Given the description of an element on the screen output the (x, y) to click on. 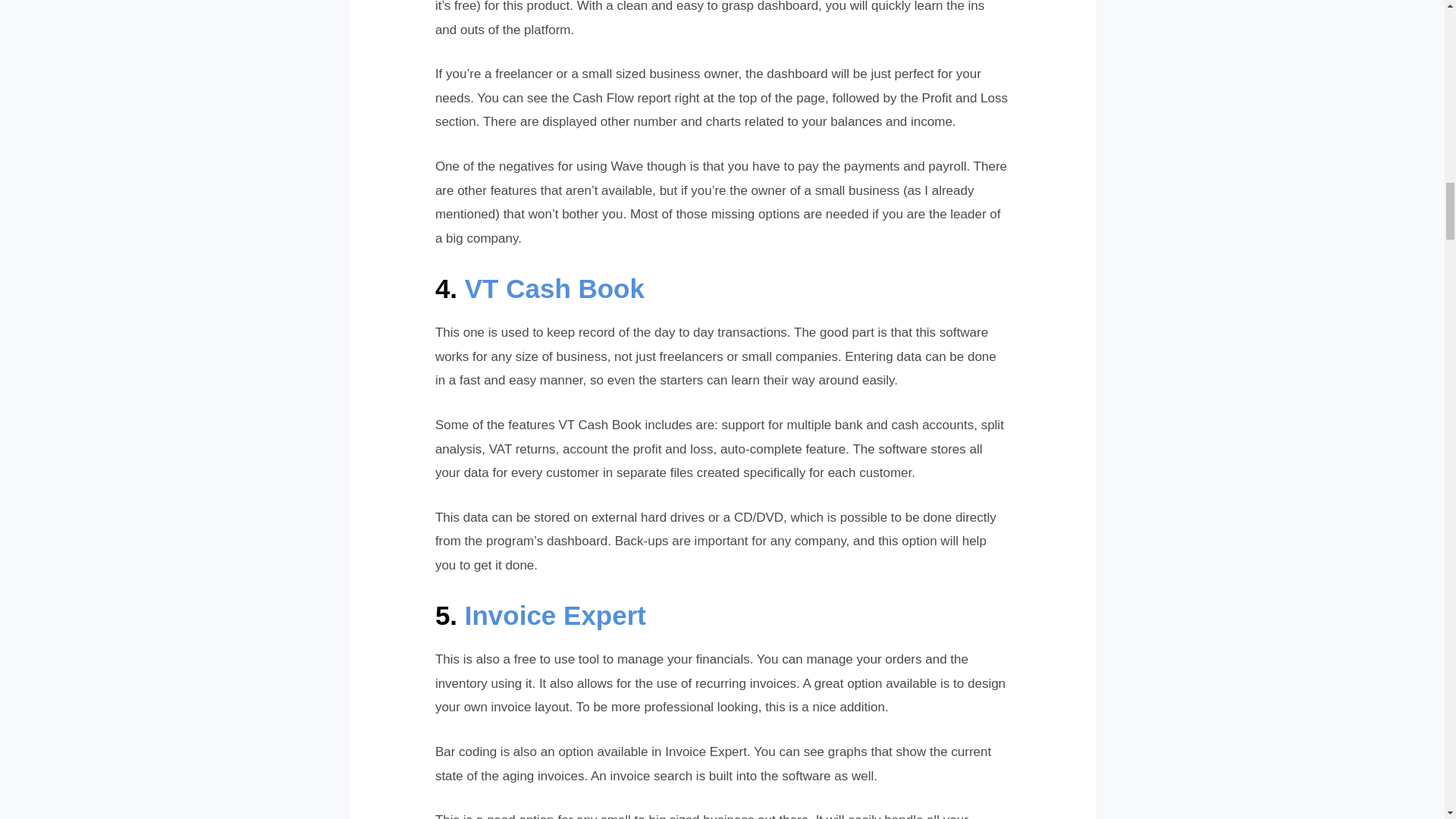
VT Cash Book (554, 288)
Invoice Expert (555, 614)
